Given the description of an element on the screen output the (x, y) to click on. 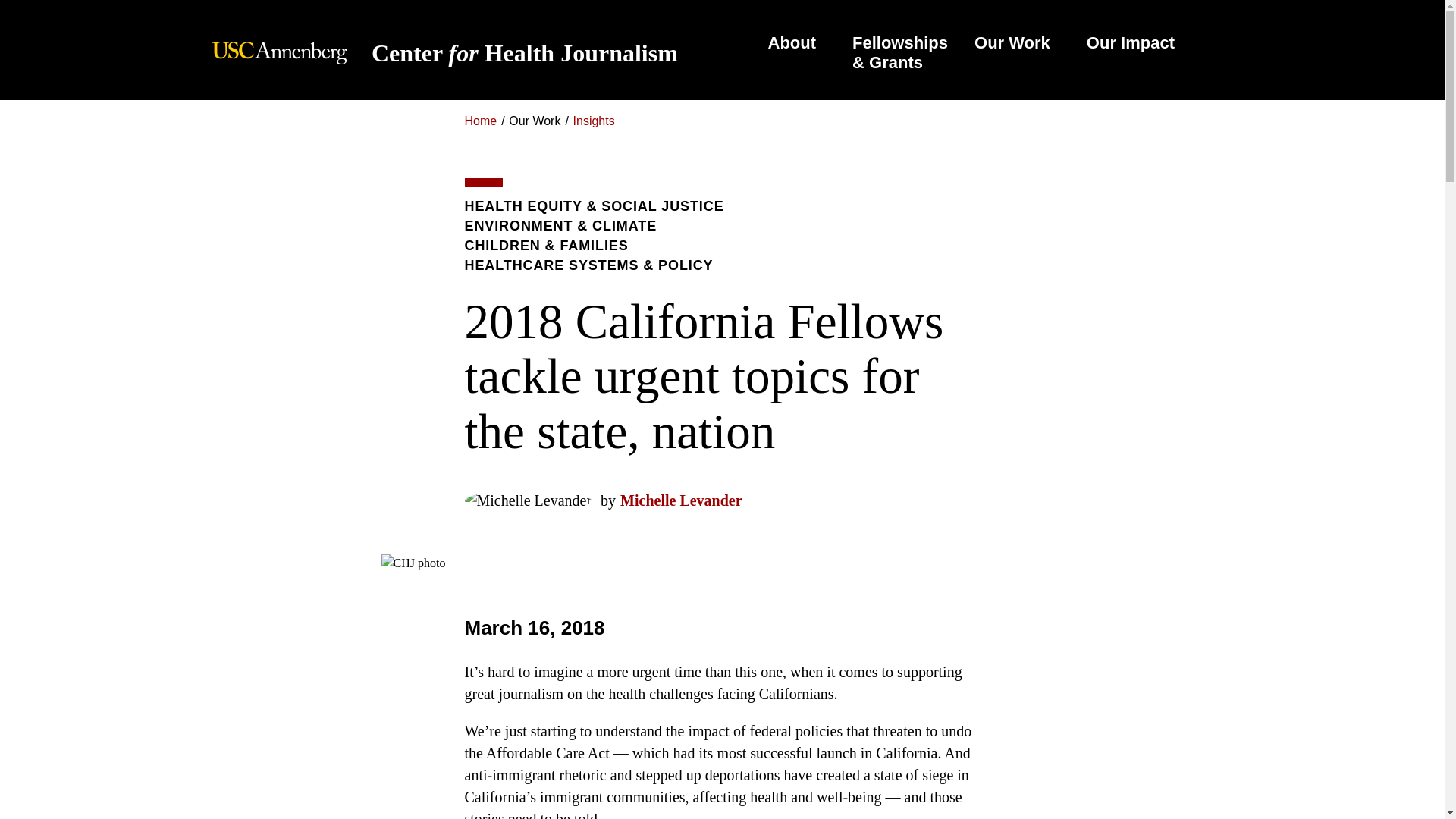
Skip to main content (791, 43)
